Given the description of an element on the screen output the (x, y) to click on. 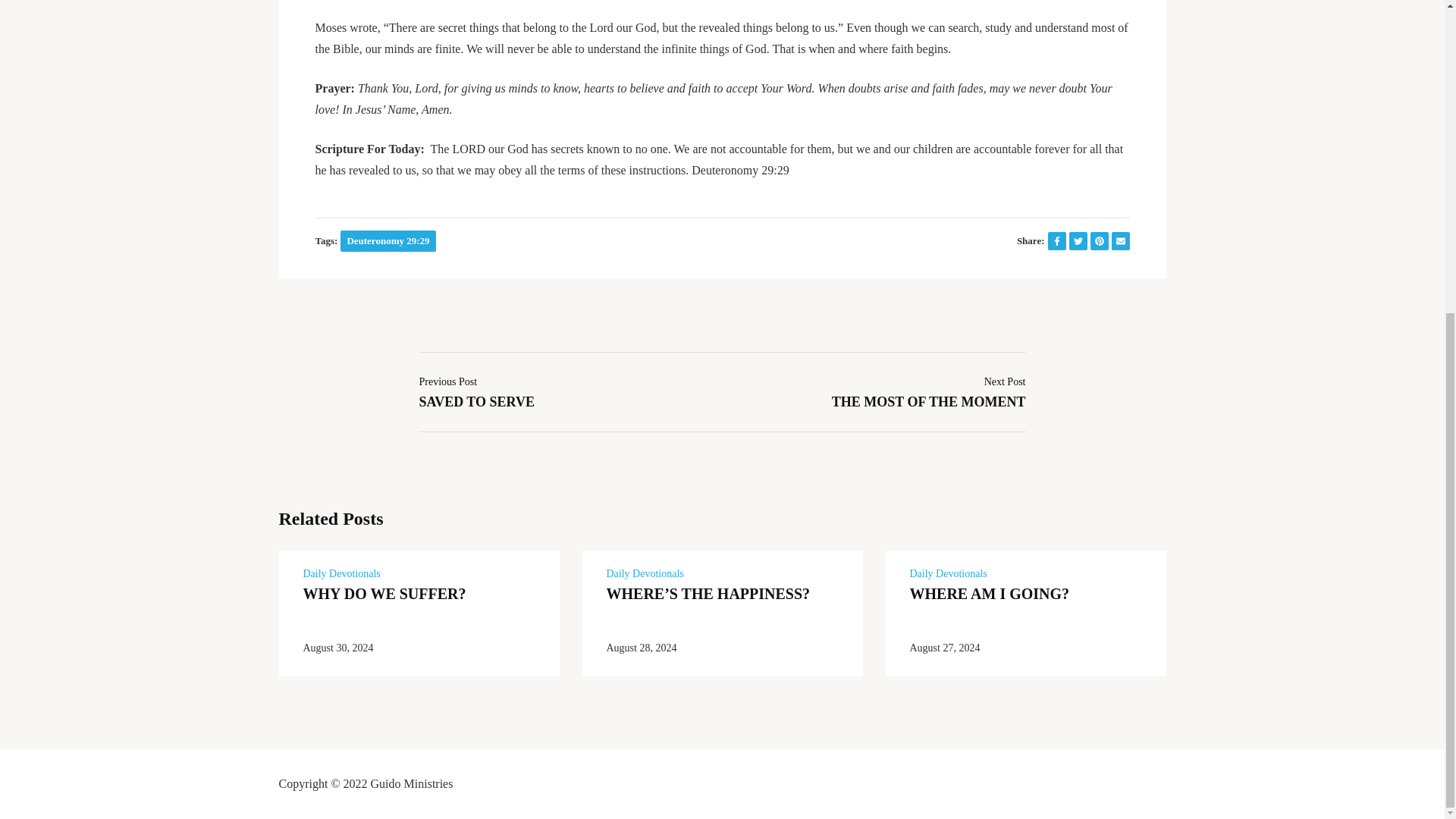
WHY DO WE SUFFER? (383, 592)
Daily Devotionals (948, 573)
Deuteronomy 29:29 (387, 240)
August 28, 2024 (642, 647)
August 30, 2024 (338, 647)
WHERE AM I GOING? (990, 592)
Daily Devotionals (476, 390)
Daily Devotionals (645, 573)
